Given the description of an element on the screen output the (x, y) to click on. 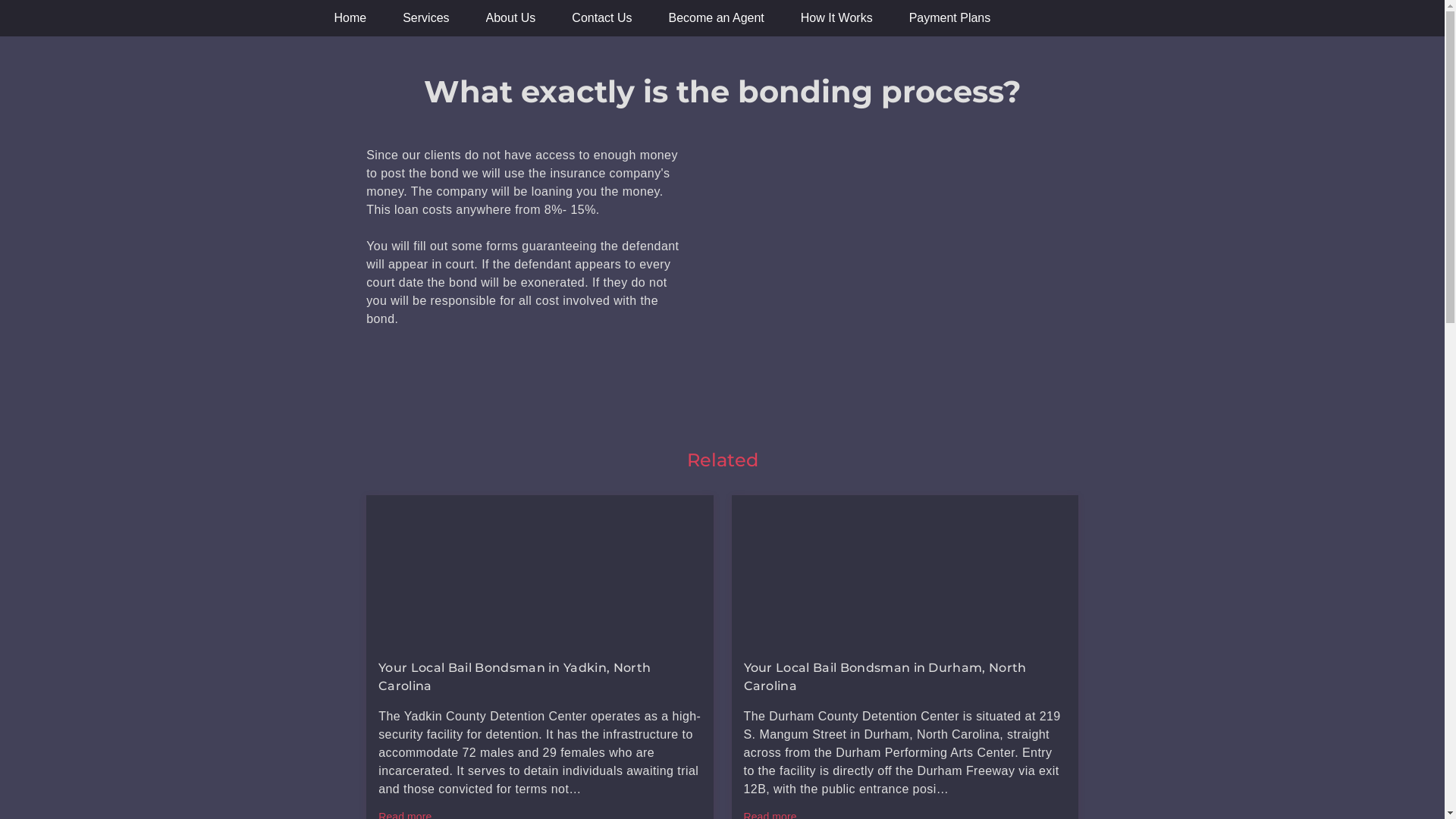
Become an Agent Element type: text (716, 18)
Services Element type: text (425, 18)
Payment Plans Element type: text (950, 18)
About Us Element type: text (511, 18)
Contact Us Element type: text (601, 18)
How It Works Element type: text (836, 18)
Home Element type: text (349, 18)
